Given the description of an element on the screen output the (x, y) to click on. 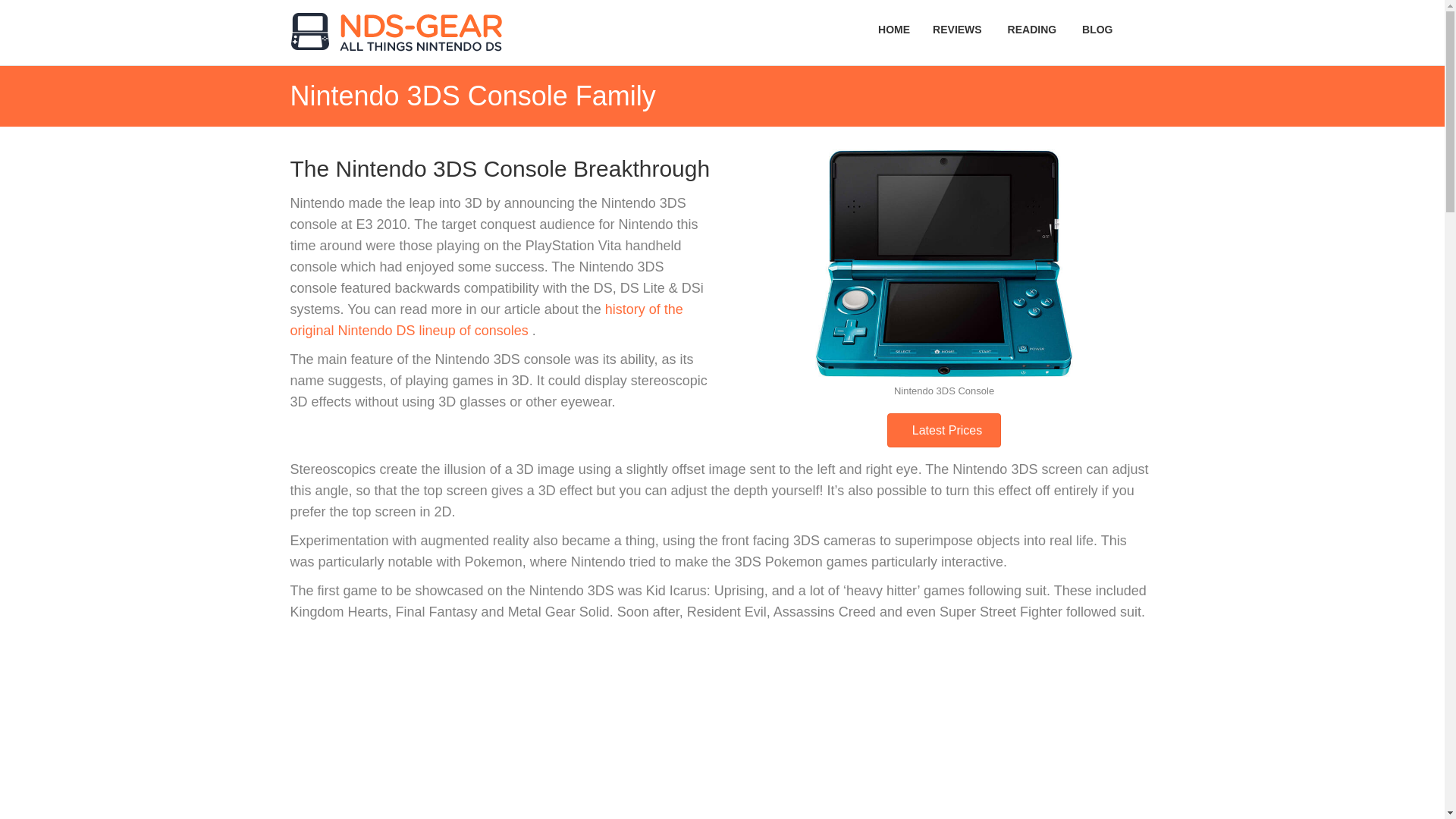
REVIEWS  (958, 30)
READING  (1032, 30)
BLOG (1097, 30)
history of the original Nintendo DS lineup of consoles (485, 320)
HOME (893, 30)
Latest Prices (943, 430)
